Given the description of an element on the screen output the (x, y) to click on. 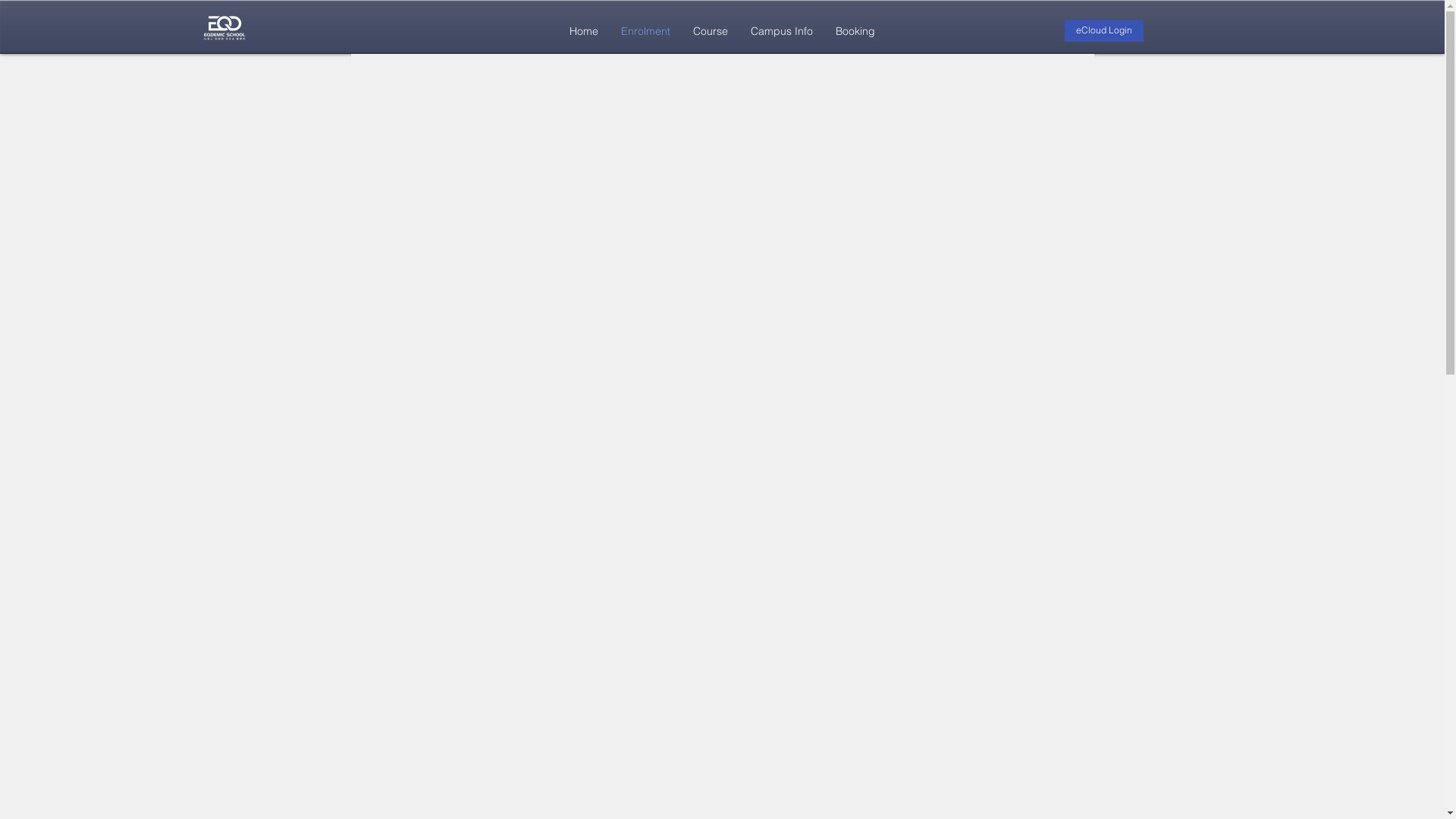
eCloud Login Element type: text (1103, 30)
